Given the description of an element on the screen output the (x, y) to click on. 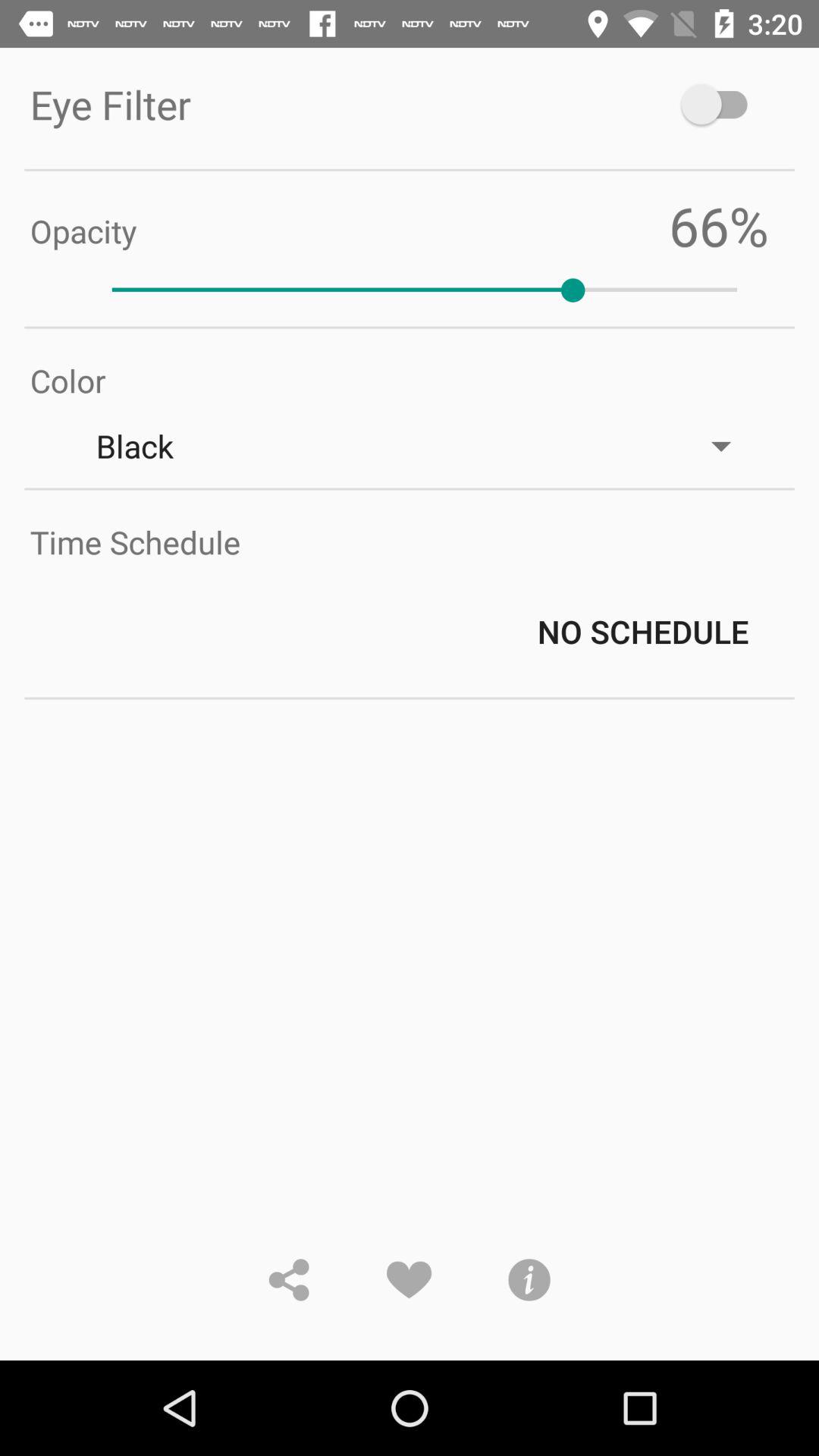
open the item next to the eye filter item (721, 104)
